Given the description of an element on the screen output the (x, y) to click on. 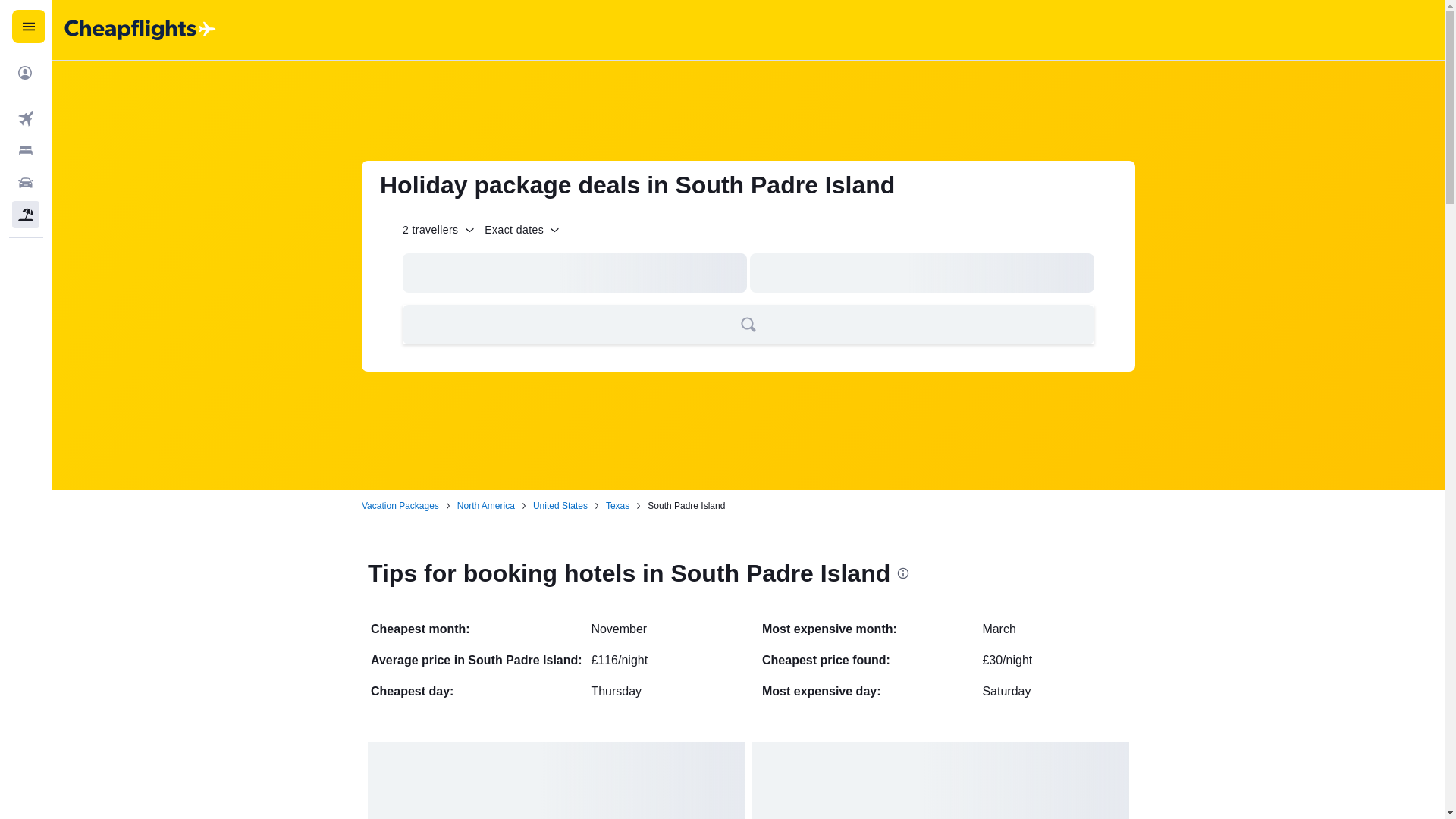
Texas (616, 505)
Saturday (1005, 690)
November (618, 628)
Vacation Packages (400, 505)
Thursday (616, 690)
March (997, 628)
North America (486, 505)
United States (560, 505)
